Given the description of an element on the screen output the (x, y) to click on. 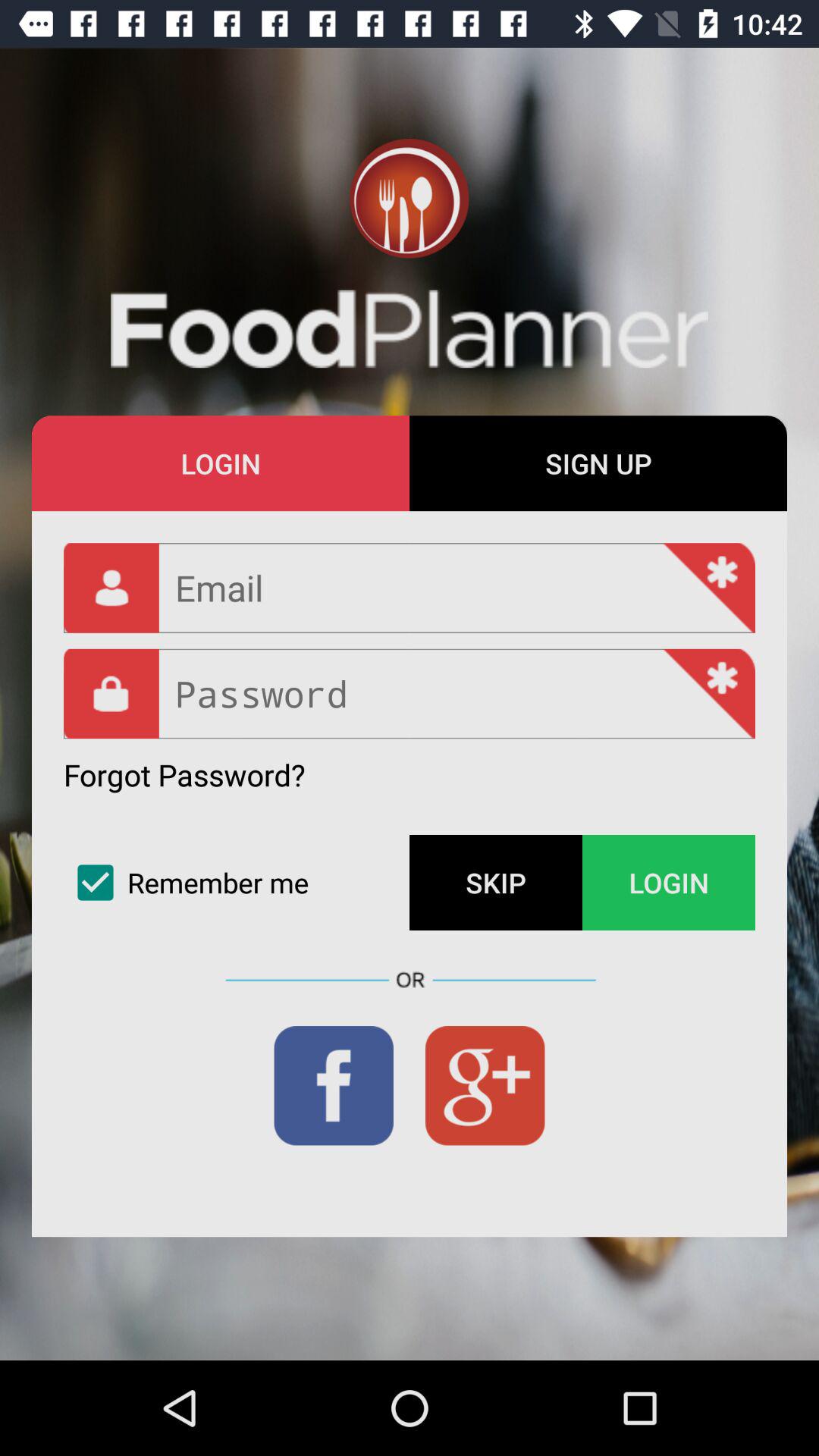
turn on item to the right of the remember me icon (495, 882)
